Given the description of an element on the screen output the (x, y) to click on. 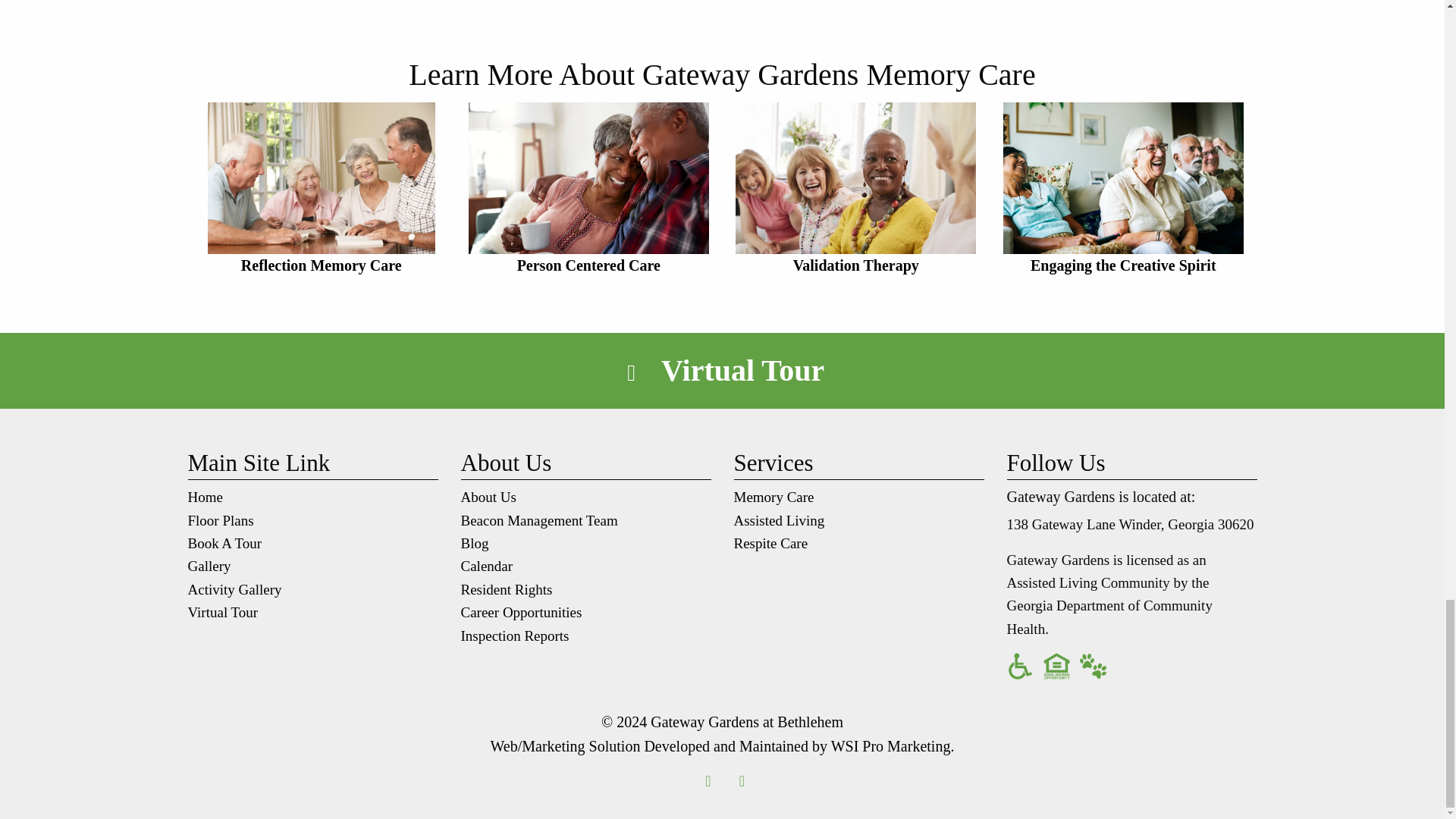
Americans with Disabilities Act (1020, 665)
Floor Plans (220, 520)
Pet Friendly (1093, 665)
Home (204, 496)
Virtual Tour (742, 369)
Engaging the Creative Spirit (1123, 189)
Book A Tour (224, 543)
Equal Housing Opportunity (1056, 665)
Validation Therapy (855, 189)
Person Centered Care (588, 189)
